Given the description of an element on the screen output the (x, y) to click on. 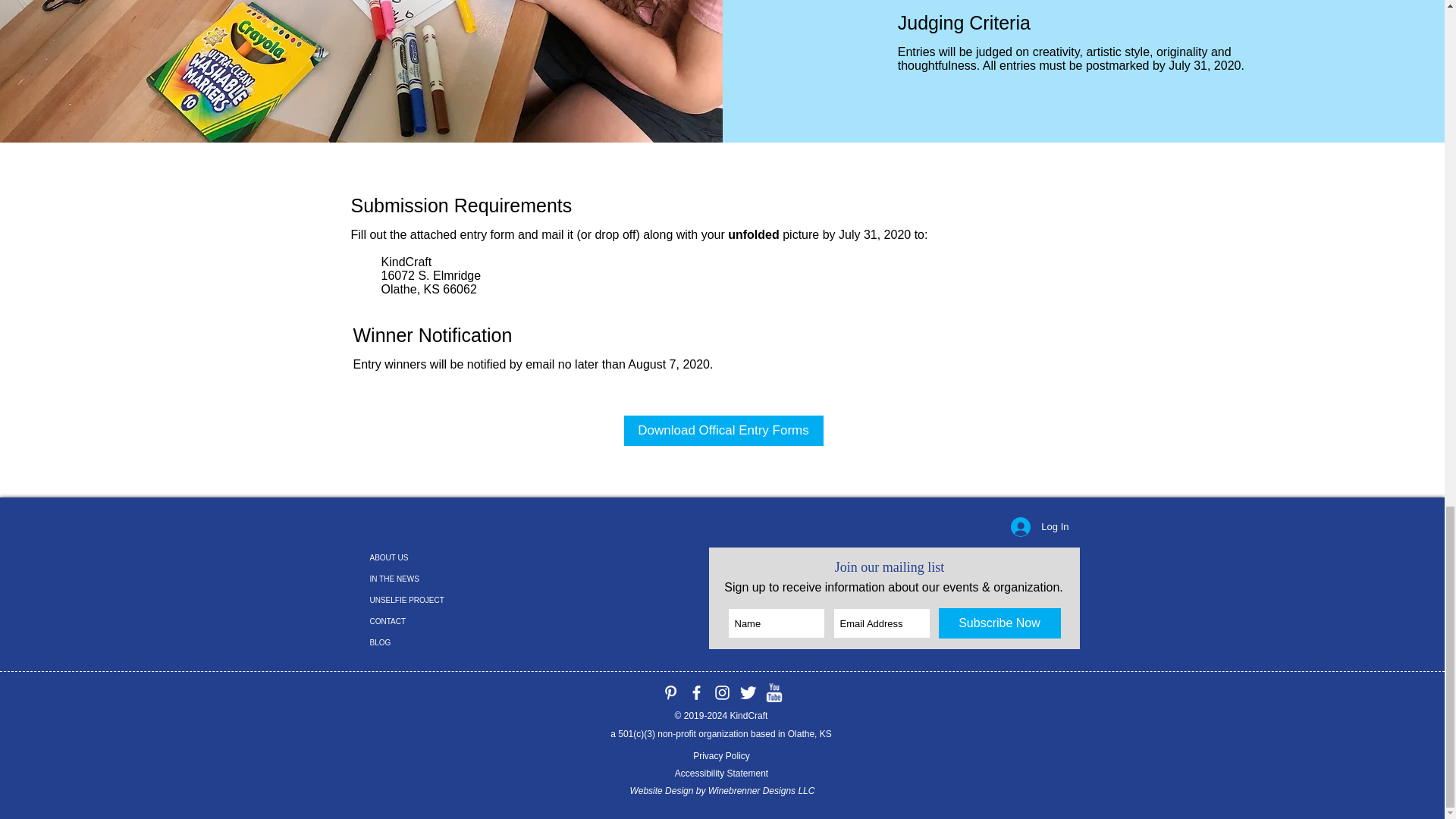
Winebrenner Designs LLC (761, 790)
ABOUT US (423, 557)
BLOG (423, 642)
CONTACT (423, 621)
Log In (1039, 526)
Download Offical Entry Forms (722, 430)
Subscribe Now (1000, 623)
UNSELFIE PROJECT (423, 599)
IN THE NEWS (423, 578)
Accessibility Statement (721, 773)
